Given the description of an element on the screen output the (x, y) to click on. 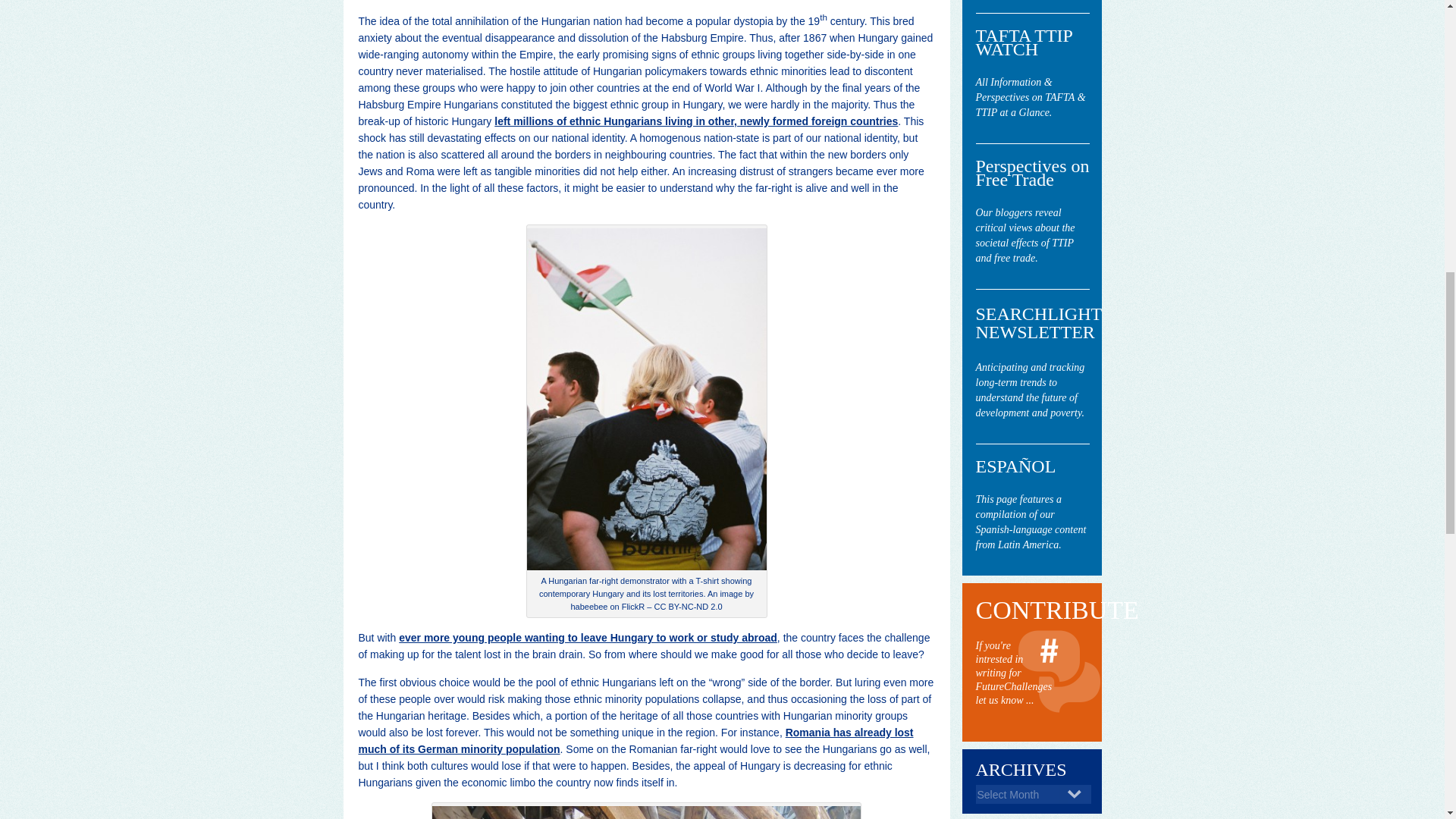
Blogposts associated with the Global Economic Symposium (1032, 235)
Searchlight Newsletter (1032, 390)
